Given the description of an element on the screen output the (x, y) to click on. 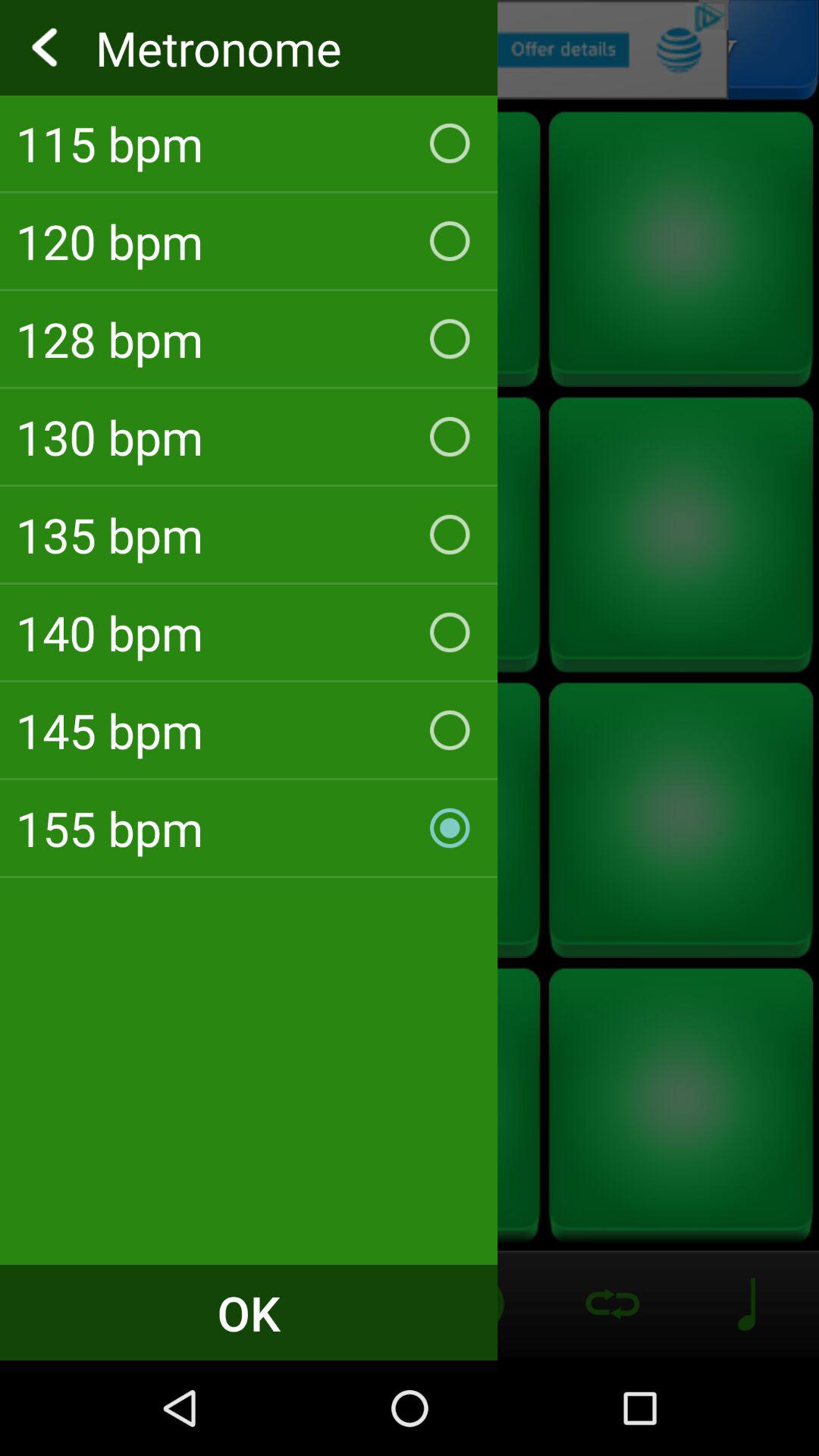
open 115 bpm (248, 143)
